Given the description of an element on the screen output the (x, y) to click on. 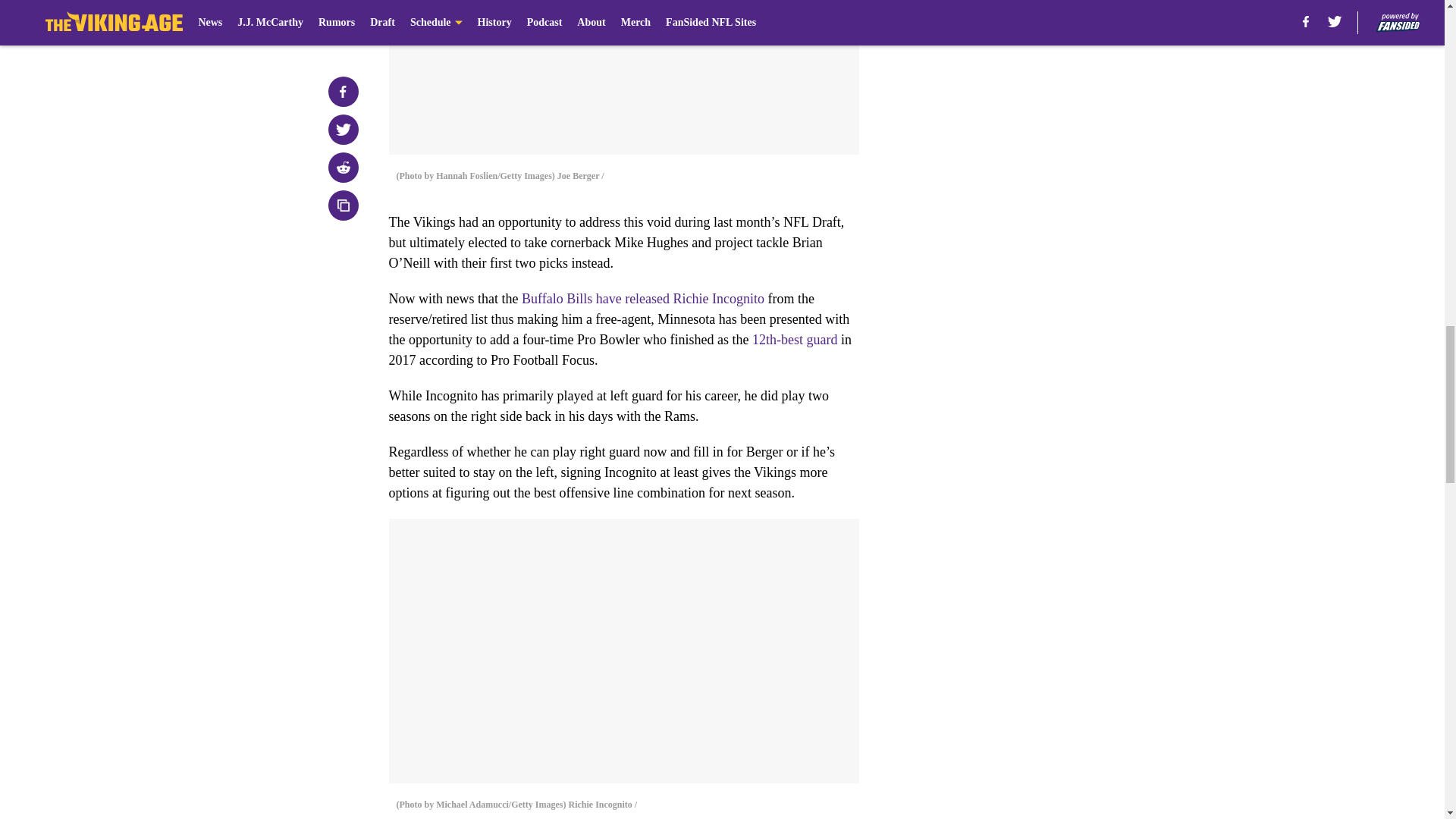
Buffalo Bills have released Richie Incognito (642, 298)
12th-best guard (794, 339)
